Given the description of an element on the screen output the (x, y) to click on. 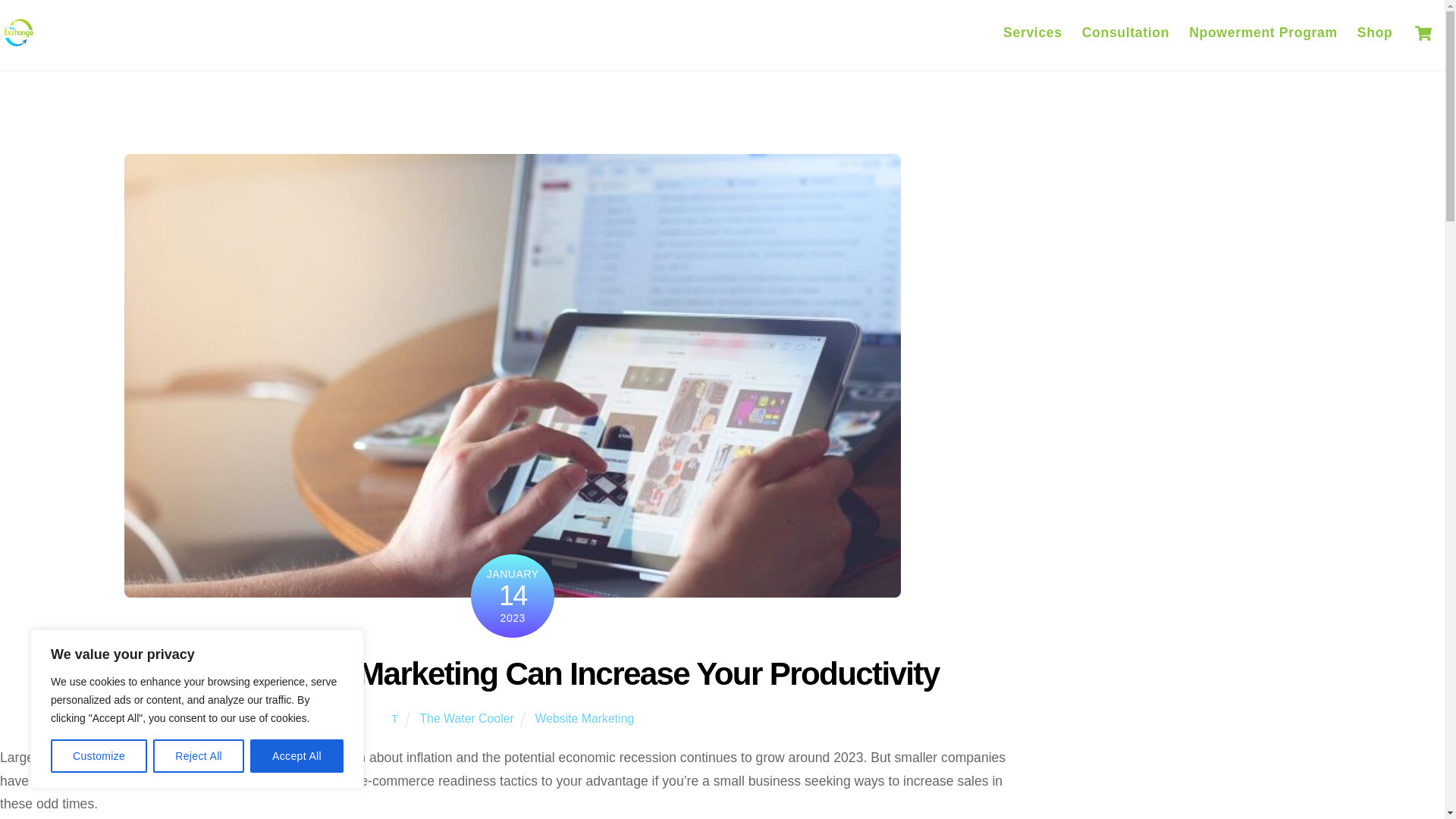
Npowerment Program (1262, 33)
The Water Cooler (466, 717)
1stop exc 1 (18, 32)
Website Marketing (584, 717)
1 Stop Exchange (18, 43)
Shop (722, 33)
Services (1374, 33)
Cart (1032, 33)
Consultation (1422, 33)
Reject All (1125, 33)
Accept All (198, 756)
Customize (296, 756)
